Given the description of an element on the screen output the (x, y) to click on. 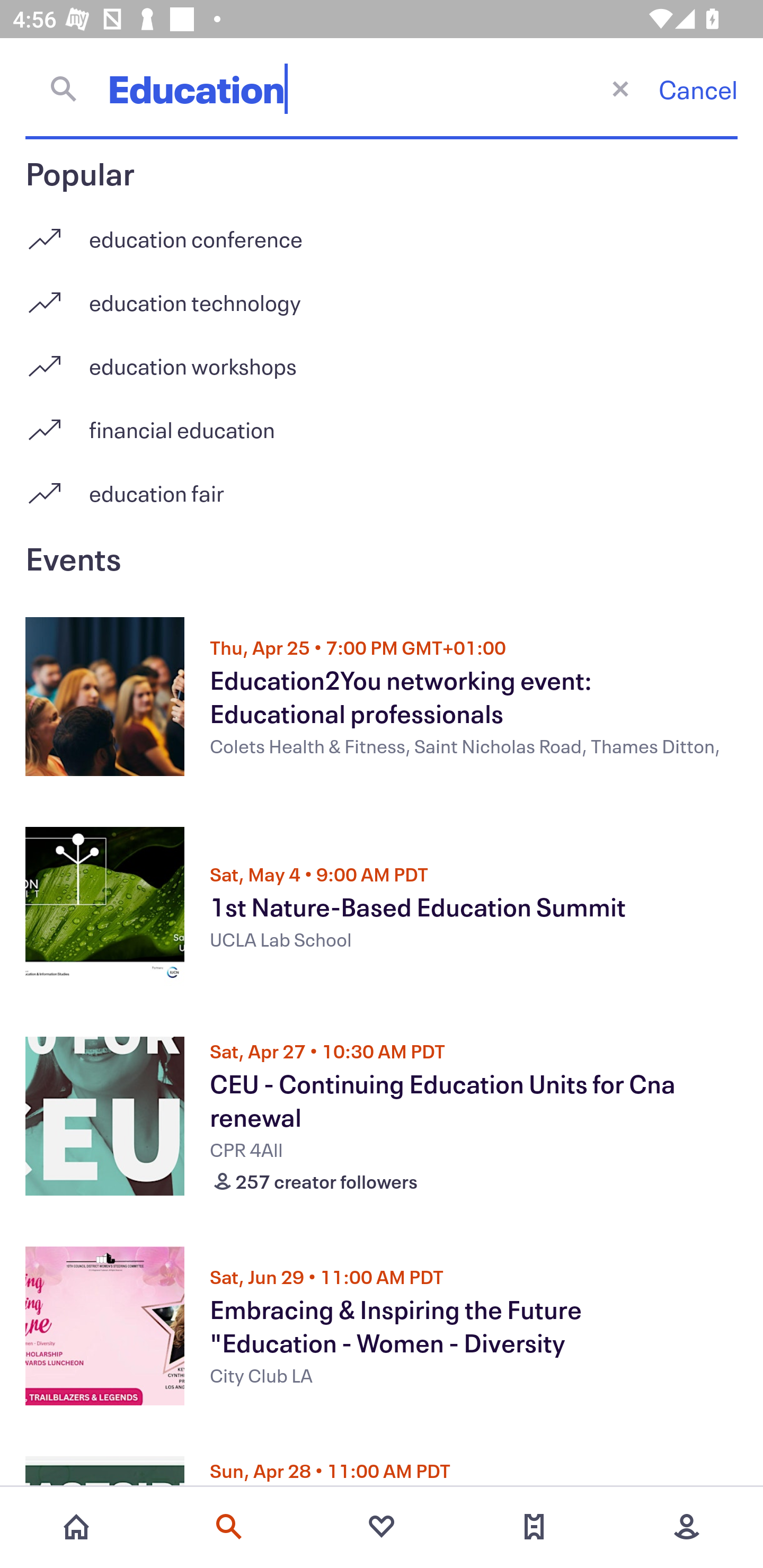
Education Close current screen Cancel (381, 88)
Close current screen (620, 88)
Cancel (697, 89)
education conference (381, 231)
education technology (381, 295)
education workshops (381, 358)
financial education (381, 422)
education fair (381, 492)
Home (76, 1526)
Search events (228, 1526)
Favorites (381, 1526)
Tickets (533, 1526)
More (686, 1526)
